Given the description of an element on the screen output the (x, y) to click on. 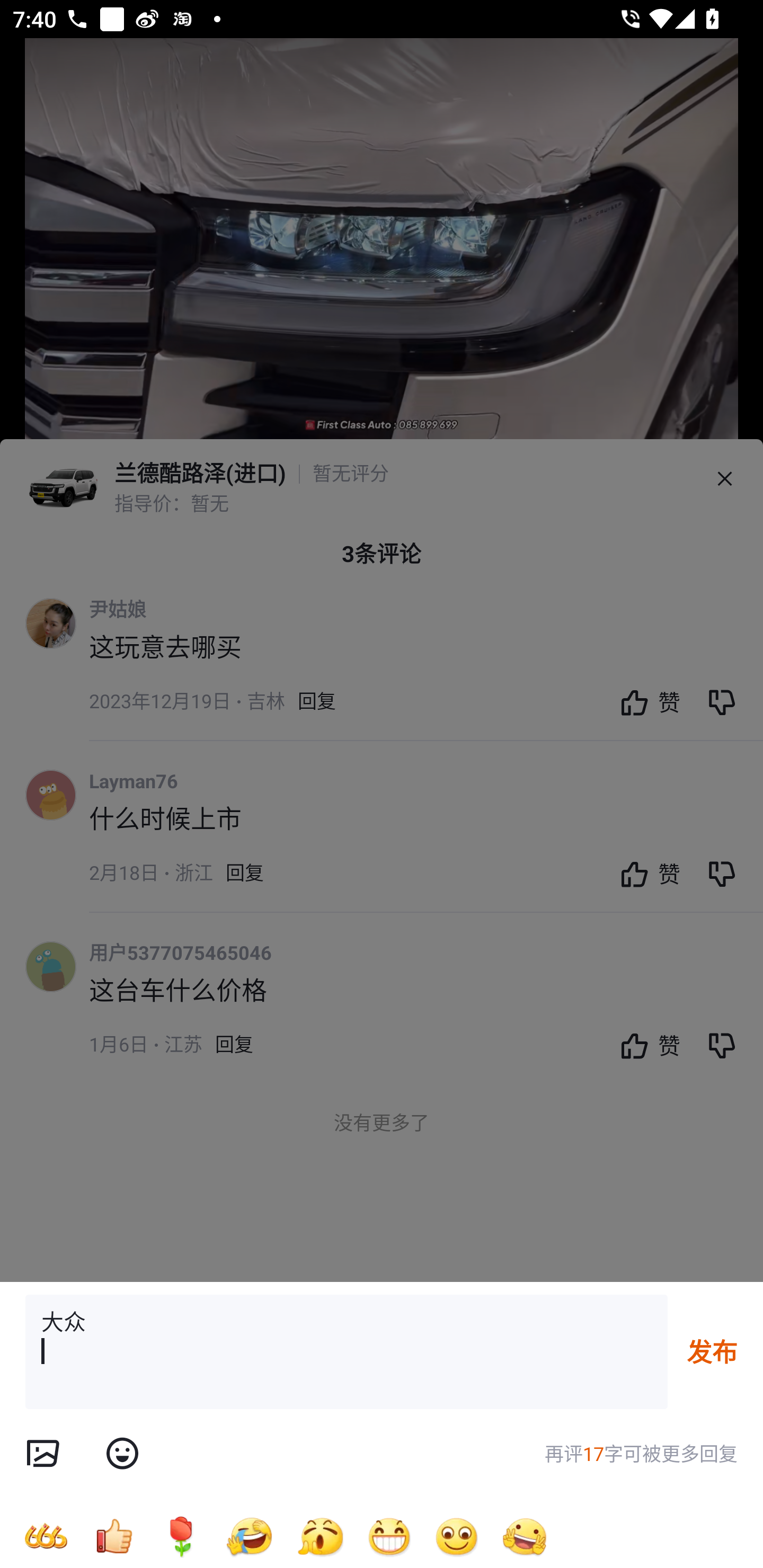
大众
 (346, 1352)
 (42, 1453)
 (122, 1453)
再评17字可被更多回复 (640, 1453)
[666] (45, 1535)
[赞] (112, 1535)
[玫瑰] (180, 1535)
[我想静静] (249, 1535)
[小鼓掌] (320, 1535)
[呲牙] (389, 1535)
[微笑] (456, 1535)
[耶] (524, 1535)
